Given the description of an element on the screen output the (x, y) to click on. 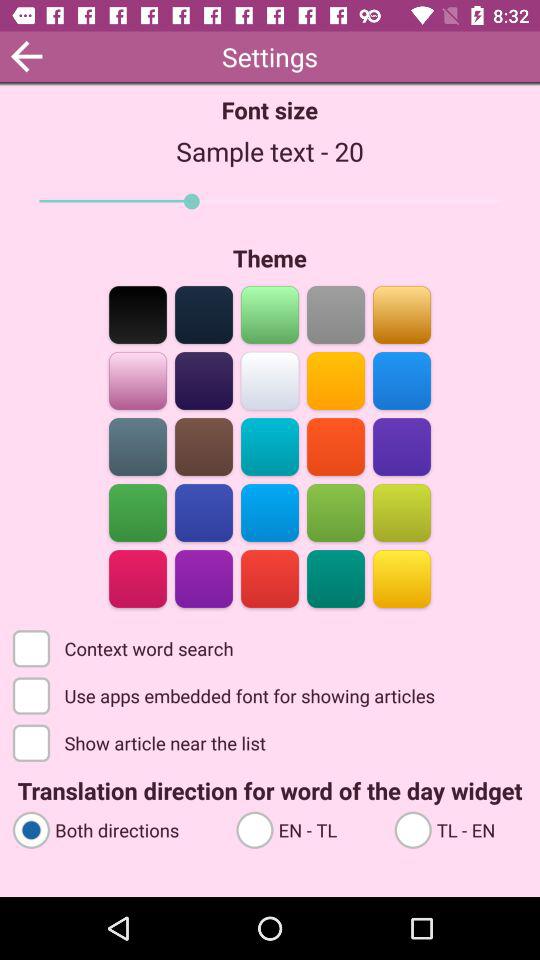
choose the color dark blue (203, 313)
